Given the description of an element on the screen output the (x, y) to click on. 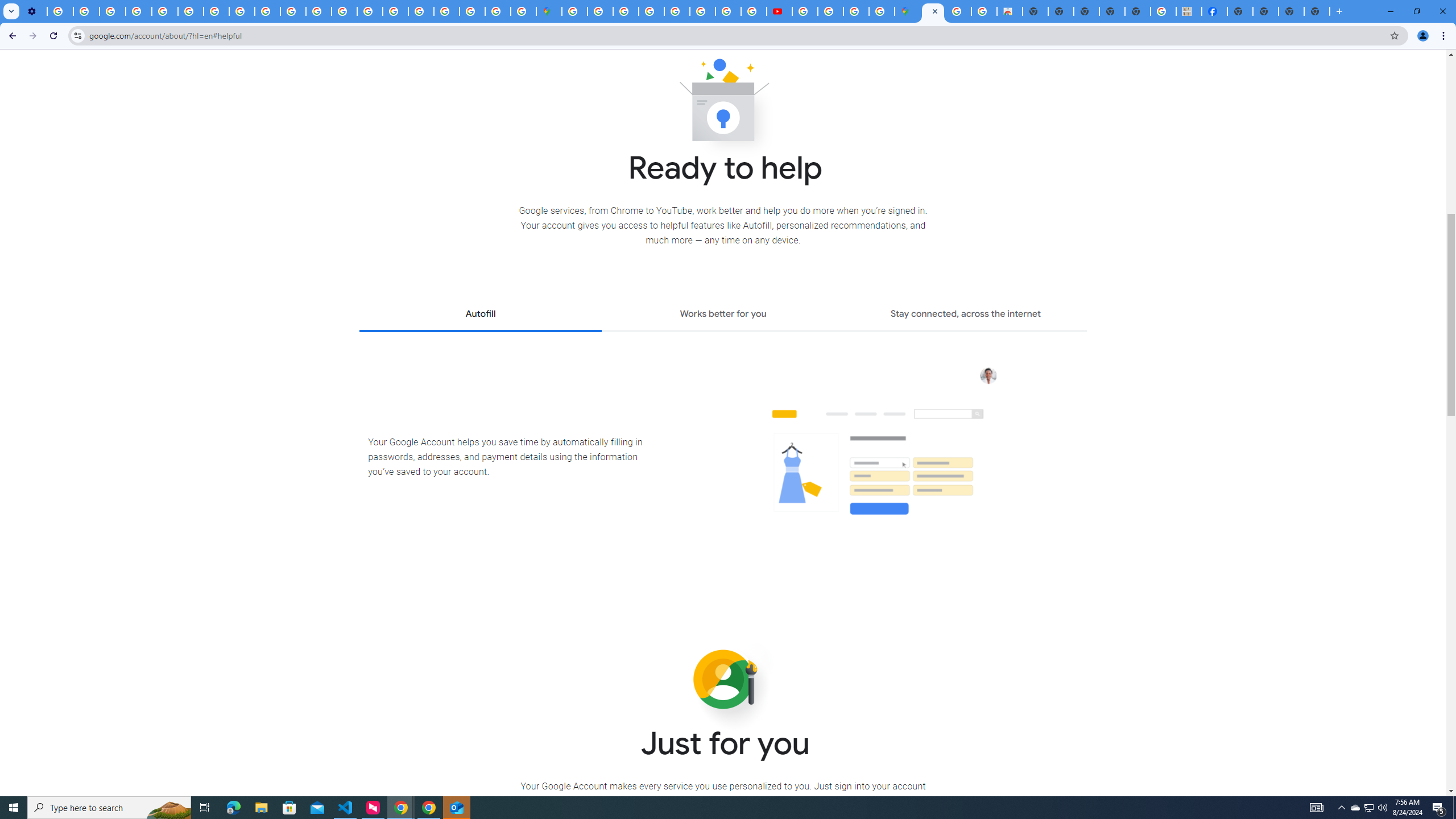
New Tab (1239, 11)
Settings - Customize profile (34, 11)
Google Maps (548, 11)
Just for you (722, 679)
Autofill (480, 315)
MILEY CYRUS. (1188, 11)
Stay connected, across the internet (965, 315)
Google Maps (907, 11)
Google Account Help (138, 11)
